Given the description of an element on the screen output the (x, y) to click on. 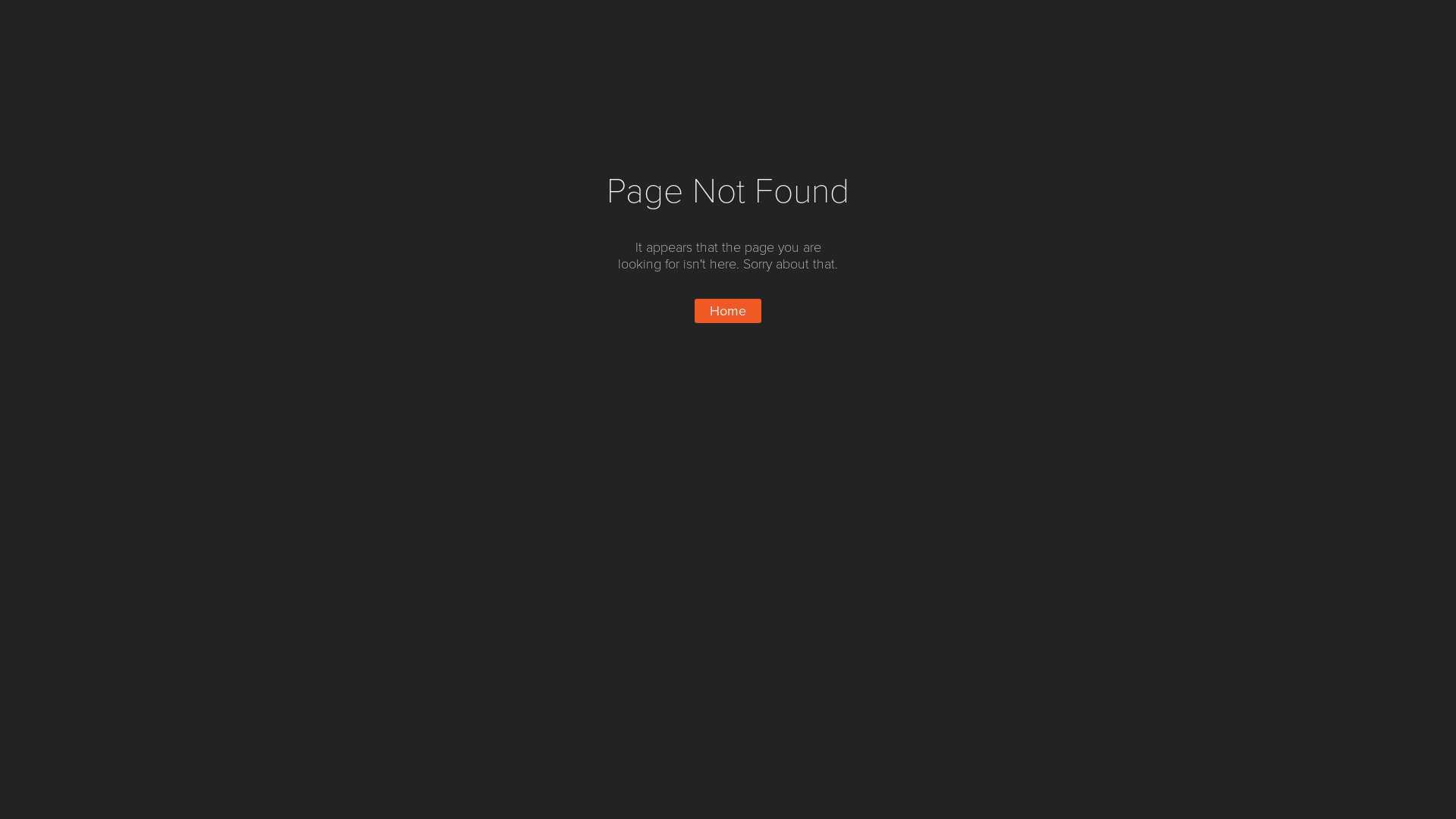
Home Element type: text (727, 310)
